Given the description of an element on the screen output the (x, y) to click on. 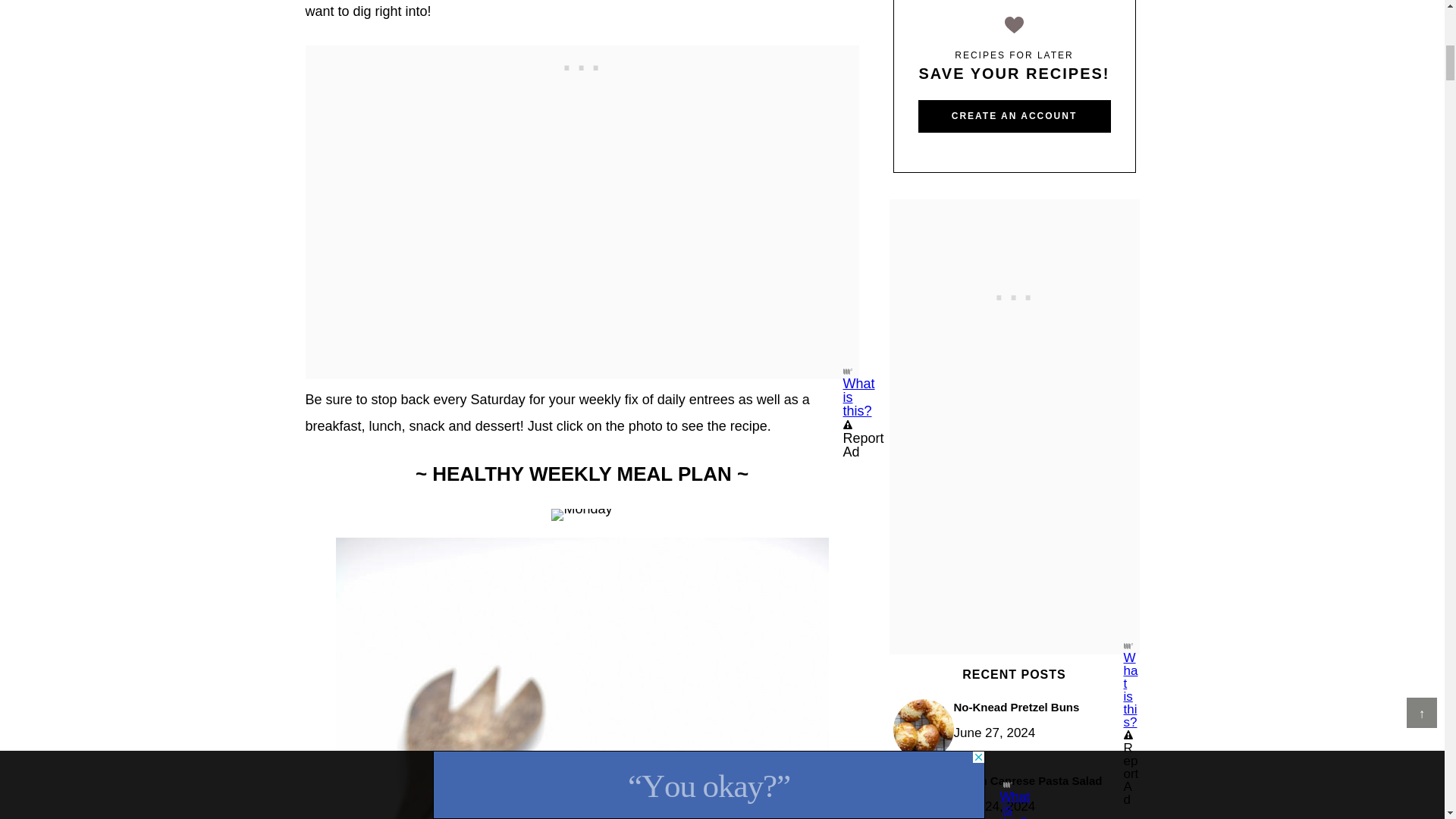
3rd party ad content (1014, 294)
